Given the description of an element on the screen output the (x, y) to click on. 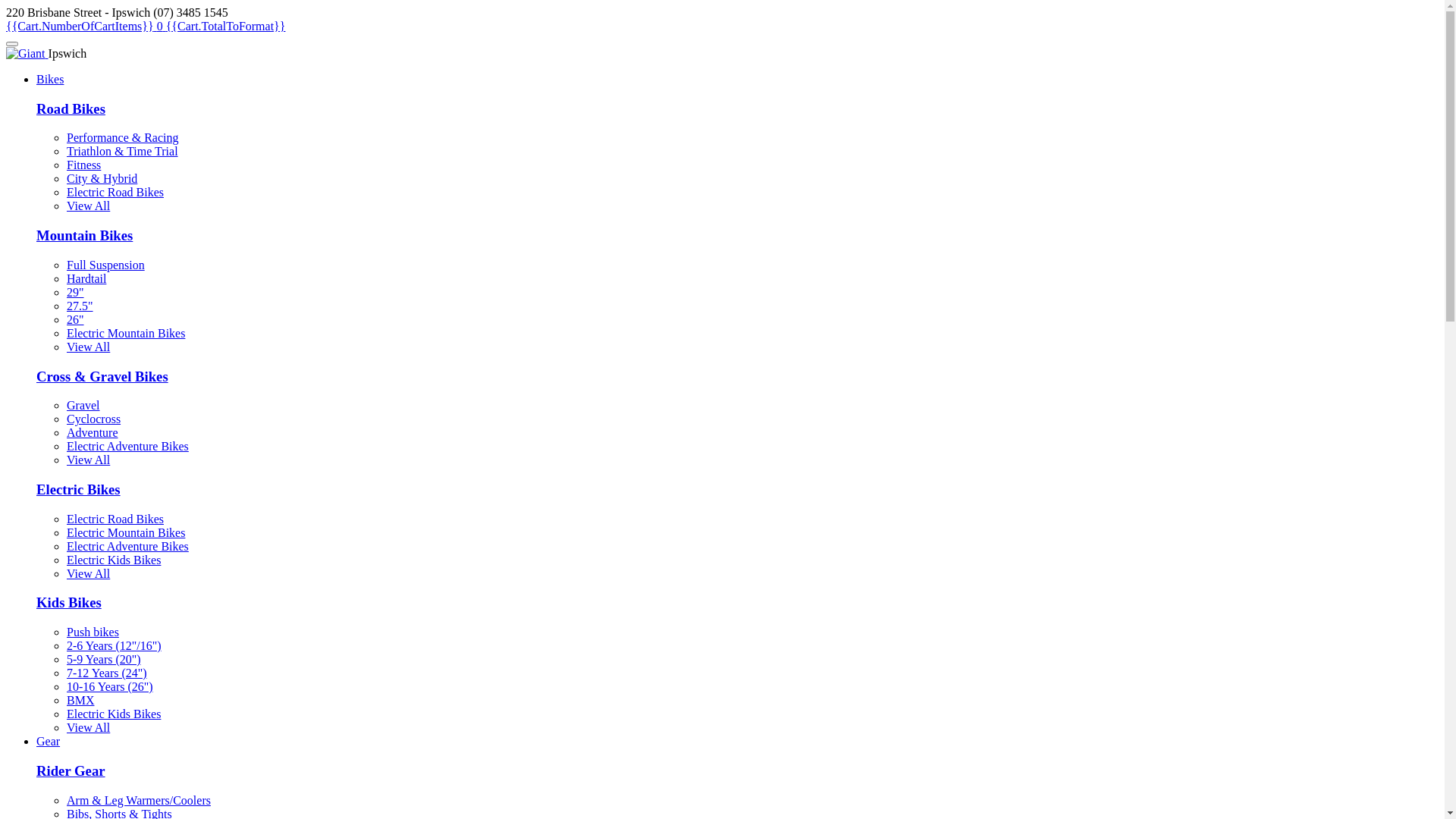
Electric Kids Bikes Element type: text (113, 713)
7-12 Years (24") Element type: text (106, 672)
29" Element type: text (75, 291)
View All Element type: text (87, 205)
Push bikes Element type: text (92, 631)
Electric Adventure Bikes Element type: text (127, 445)
5-9 Years (20") Element type: text (103, 658)
Gravel Element type: text (83, 404)
Rider Gear Element type: text (70, 770)
Cyclocross Element type: text (93, 418)
Electric Adventure Bikes Element type: text (127, 545)
Triathlon & Time Trial Element type: text (122, 150)
BMX Element type: text (80, 699)
10-16 Years (26") Element type: text (109, 686)
City & Hybrid Element type: text (101, 178)
Hardtail Element type: text (86, 278)
Kids Bikes Element type: text (68, 602)
Full Suspension Element type: text (105, 264)
View All Element type: text (87, 727)
Gear Element type: text (47, 740)
Electric Bikes Element type: text (78, 489)
Fitness Element type: text (83, 164)
2-6 Years (12"/16") Element type: text (113, 645)
View All Element type: text (87, 459)
Electric Mountain Bikes Element type: text (125, 532)
Electric Kids Bikes Element type: text (113, 559)
26" Element type: text (75, 319)
Performance & Racing Element type: text (122, 137)
Electric Road Bikes Element type: text (114, 518)
27.5" Element type: text (79, 305)
Electric Road Bikes Element type: text (114, 191)
Mountain Bikes Element type: text (84, 235)
Electric Mountain Bikes Element type: text (125, 332)
Arm & Leg Warmers/Coolers Element type: text (138, 799)
Road Bikes Element type: text (70, 108)
Bikes Element type: text (49, 78)
View All Element type: text (87, 573)
View All Element type: text (87, 346)
Adventure Element type: text (92, 432)
Cross & Gravel Bikes Element type: text (102, 376)
